Given the description of an element on the screen output the (x, y) to click on. 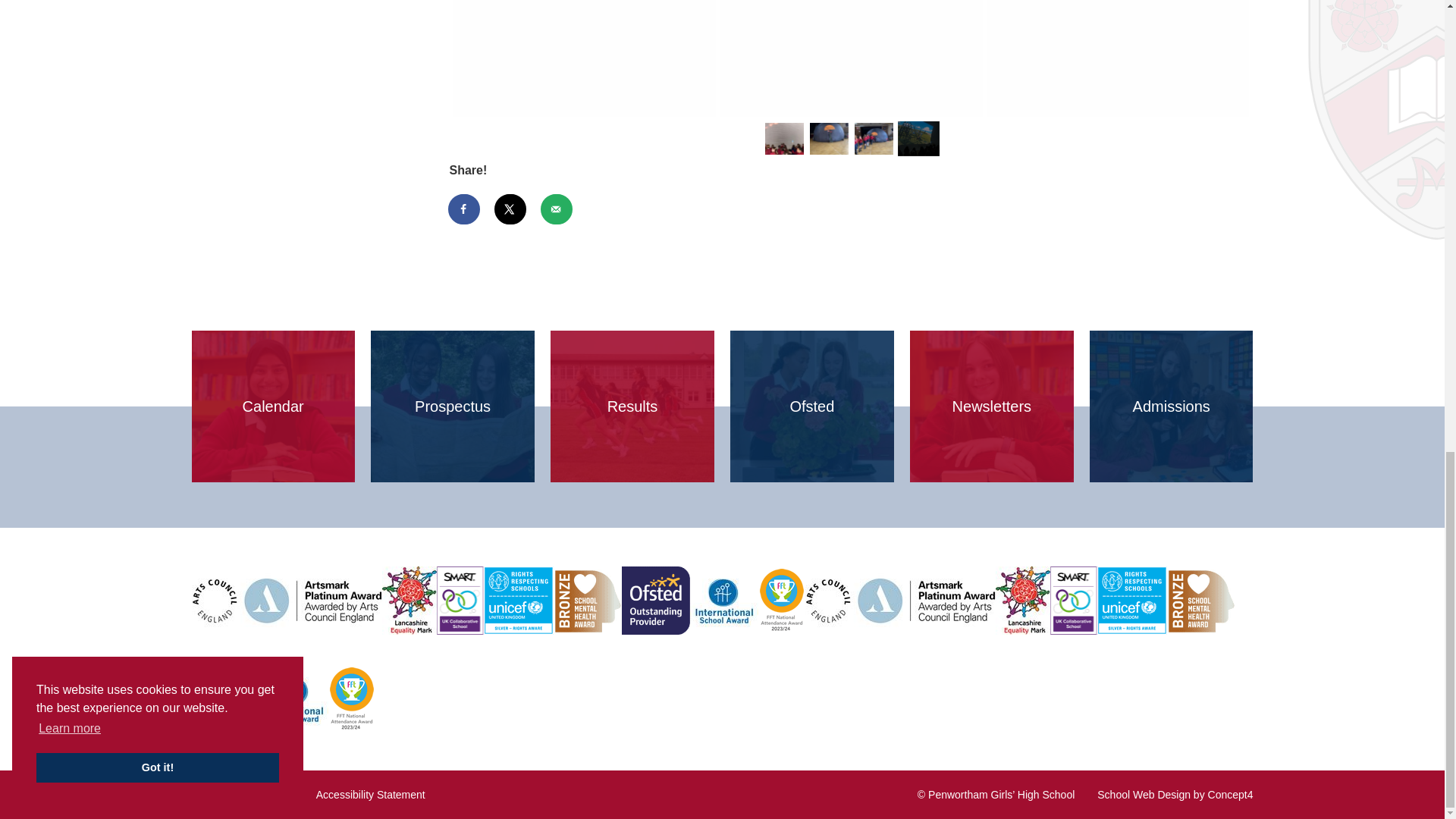
Share on X (510, 209)
Send over email (556, 209)
Share on Facebook (463, 209)
